Given the description of an element on the screen output the (x, y) to click on. 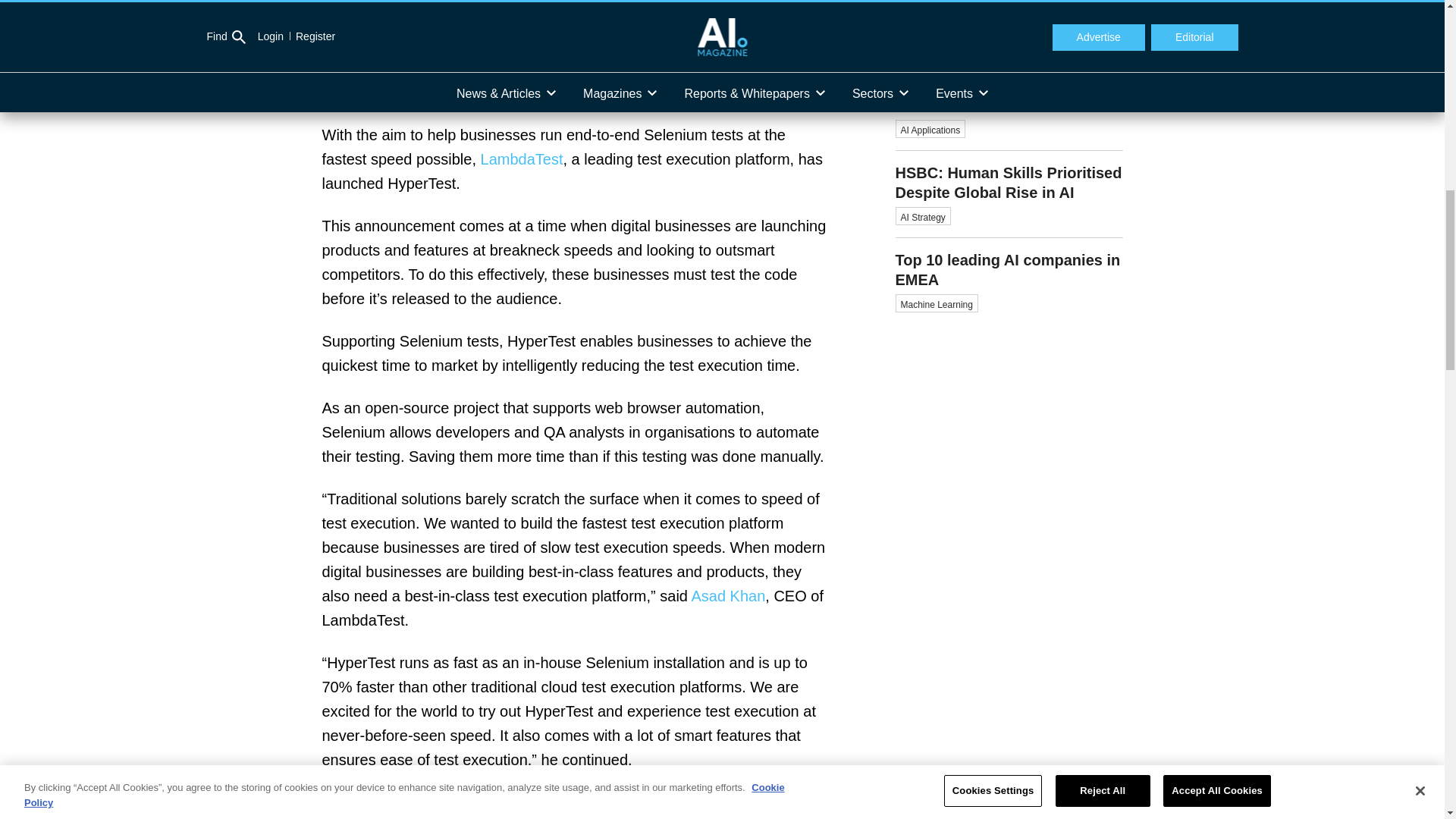
3rd party ad content (1008, 557)
